Given the description of an element on the screen output the (x, y) to click on. 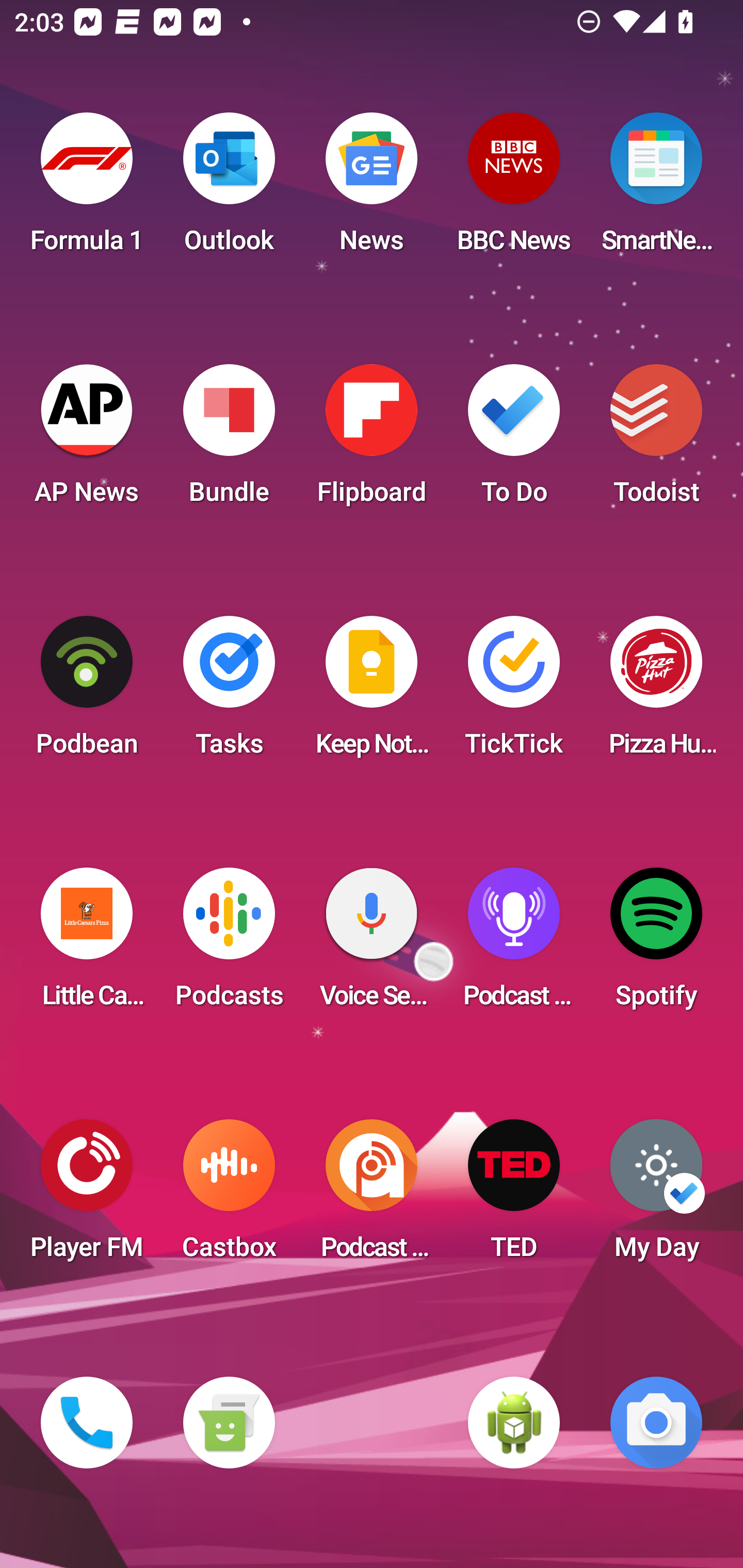
Formula 1 (86, 188)
Outlook (228, 188)
News (371, 188)
BBC News (513, 188)
SmartNews (656, 188)
AP News (86, 440)
Bundle (228, 440)
Flipboard (371, 440)
To Do (513, 440)
Todoist (656, 440)
Podbean (86, 692)
Tasks (228, 692)
Keep Notes (371, 692)
TickTick (513, 692)
Pizza Hut HK & Macau (656, 692)
Little Caesars Pizza (86, 943)
Podcasts (228, 943)
Voice Search (371, 943)
Podcast Player (513, 943)
Spotify (656, 943)
Player FM (86, 1195)
Castbox (228, 1195)
Podcast Addict (371, 1195)
TED (513, 1195)
My Day (656, 1195)
Phone (86, 1422)
Messaging (228, 1422)
WebView Browser Tester (513, 1422)
Camera (656, 1422)
